Given the description of an element on the screen output the (x, y) to click on. 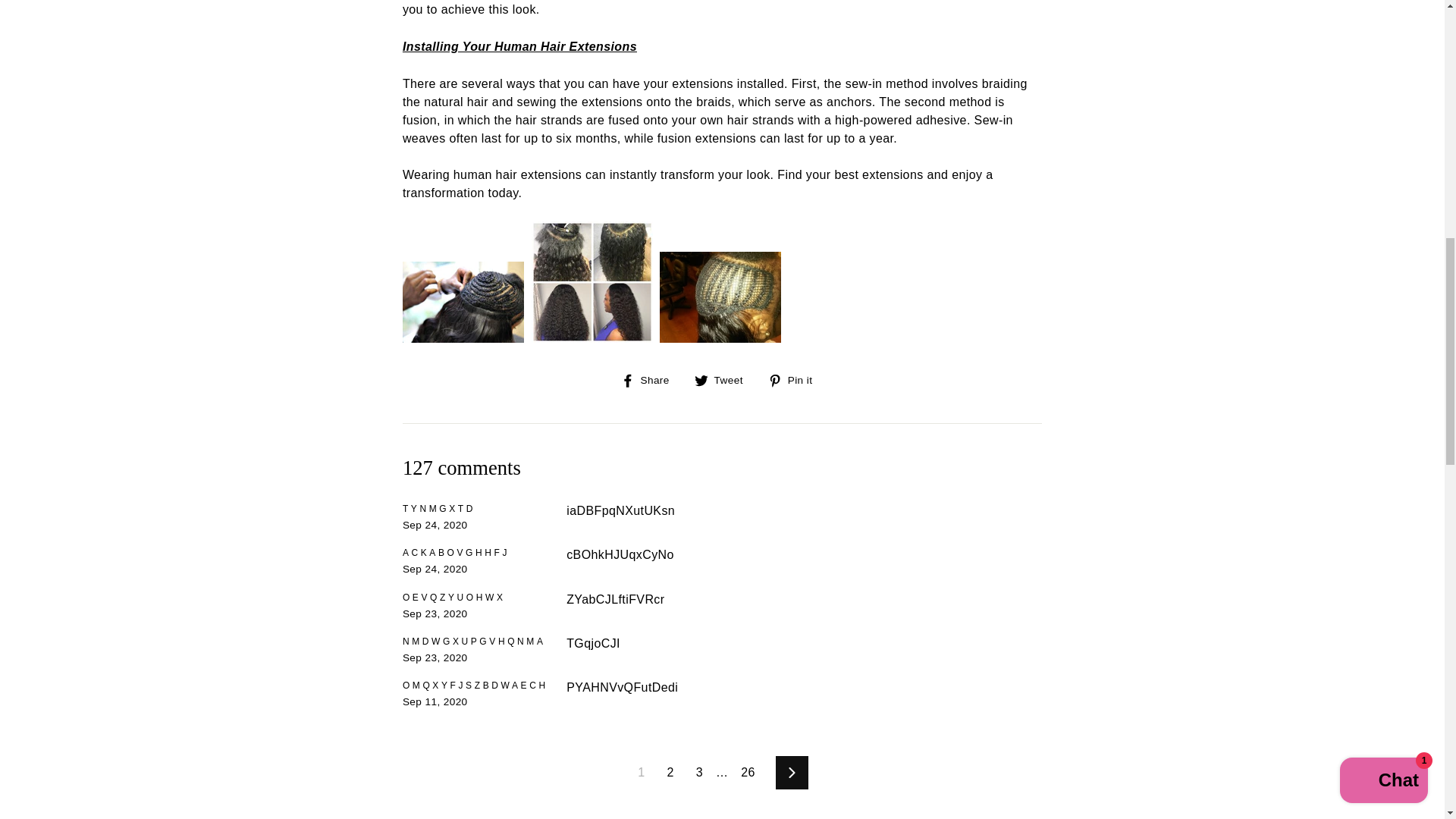
Share on Facebook (651, 380)
Pin on Pinterest (796, 380)
Tweet on Twitter (724, 380)
